Given the description of an element on the screen output the (x, y) to click on. 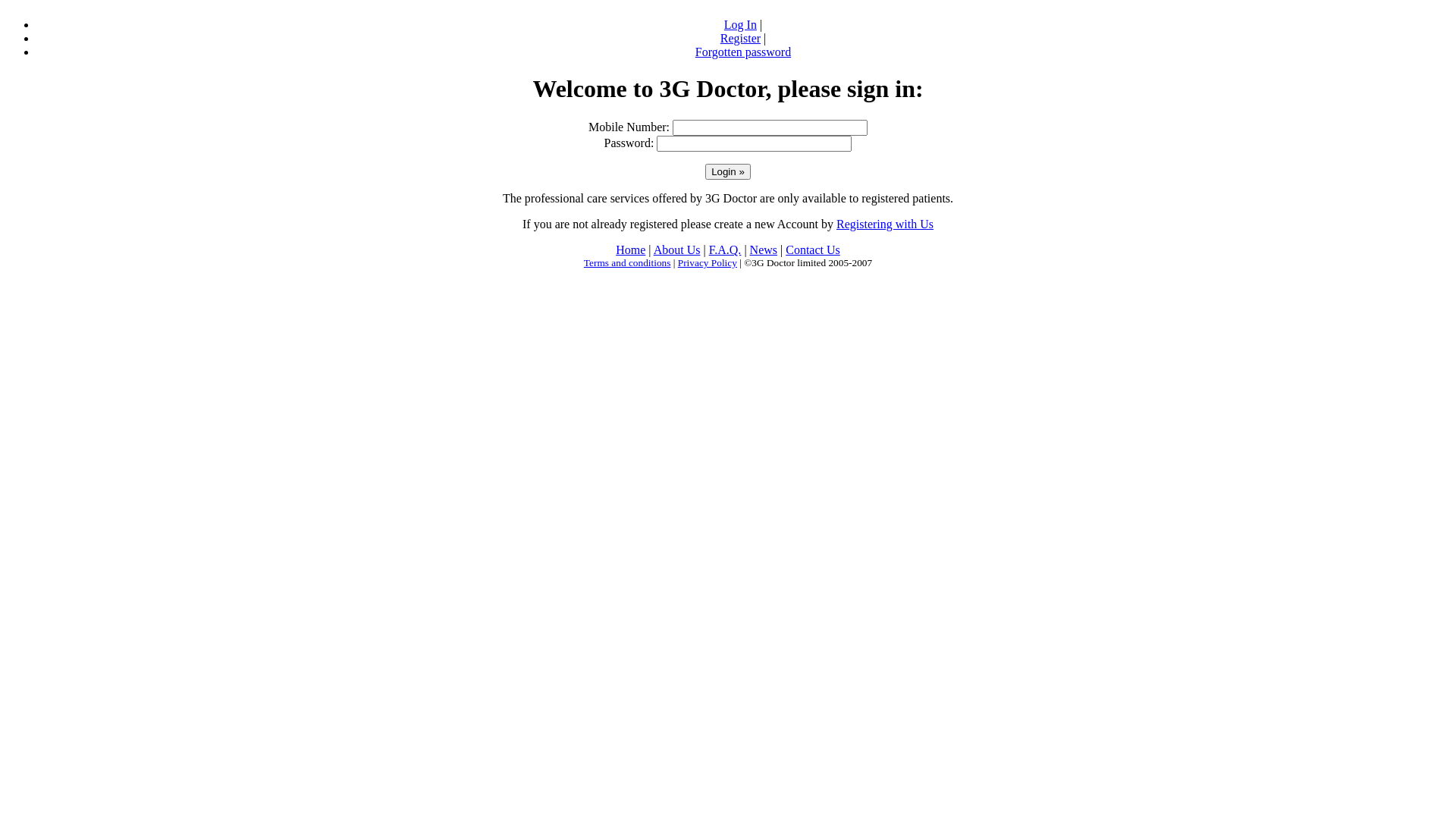
Home Element type: text (630, 249)
Registering with Us Element type: text (884, 223)
F.A.Q. Element type: text (725, 249)
About Us Element type: text (676, 249)
Terms and conditions Element type: text (627, 262)
Log In Element type: text (740, 24)
News Element type: text (763, 249)
Privacy Policy Element type: text (707, 262)
Register Element type: text (740, 37)
Forgotten password Element type: text (742, 51)
Contact Us Element type: text (812, 249)
